Given the description of an element on the screen output the (x, y) to click on. 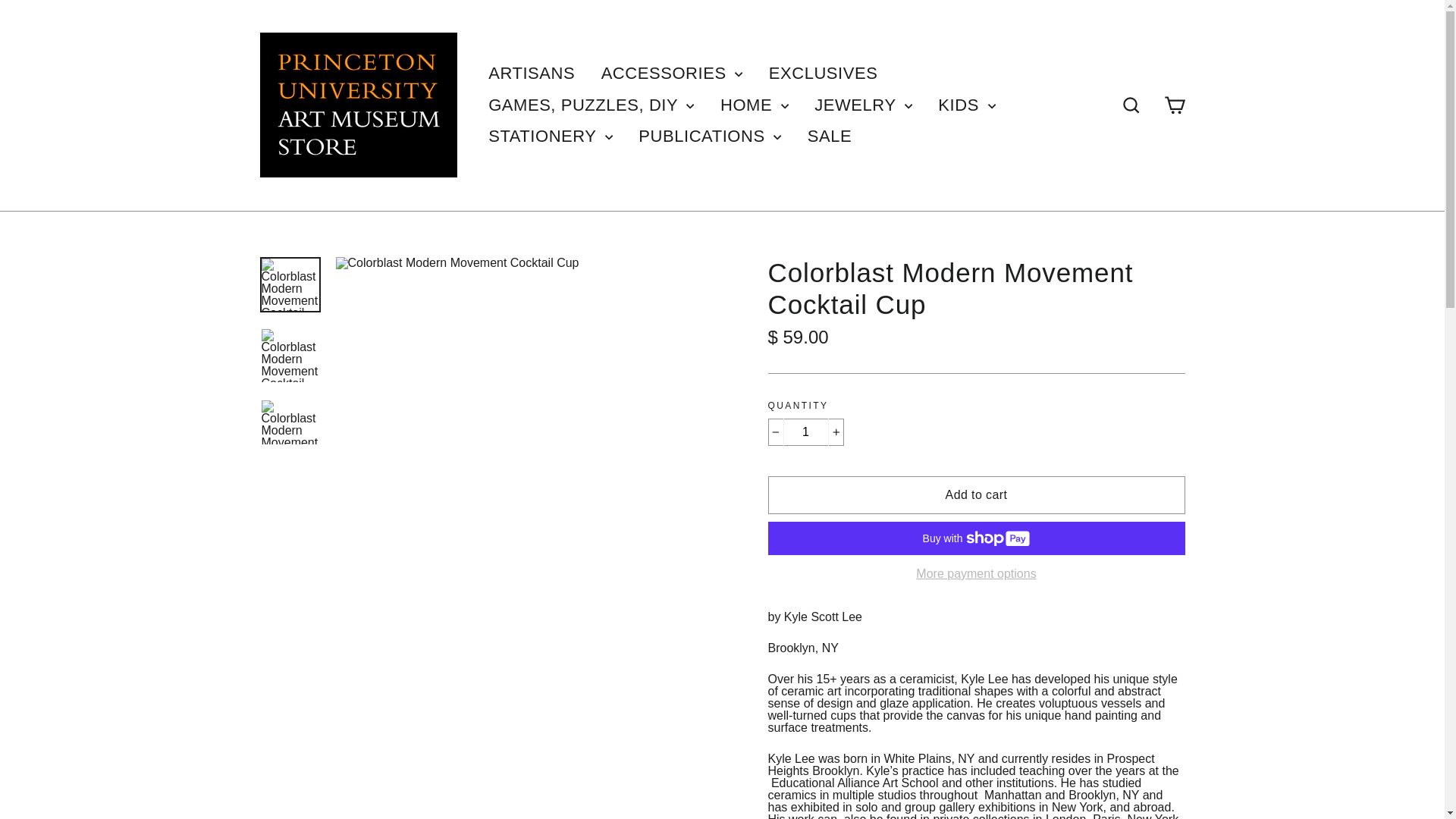
1 (805, 431)
